Given the description of an element on the screen output the (x, y) to click on. 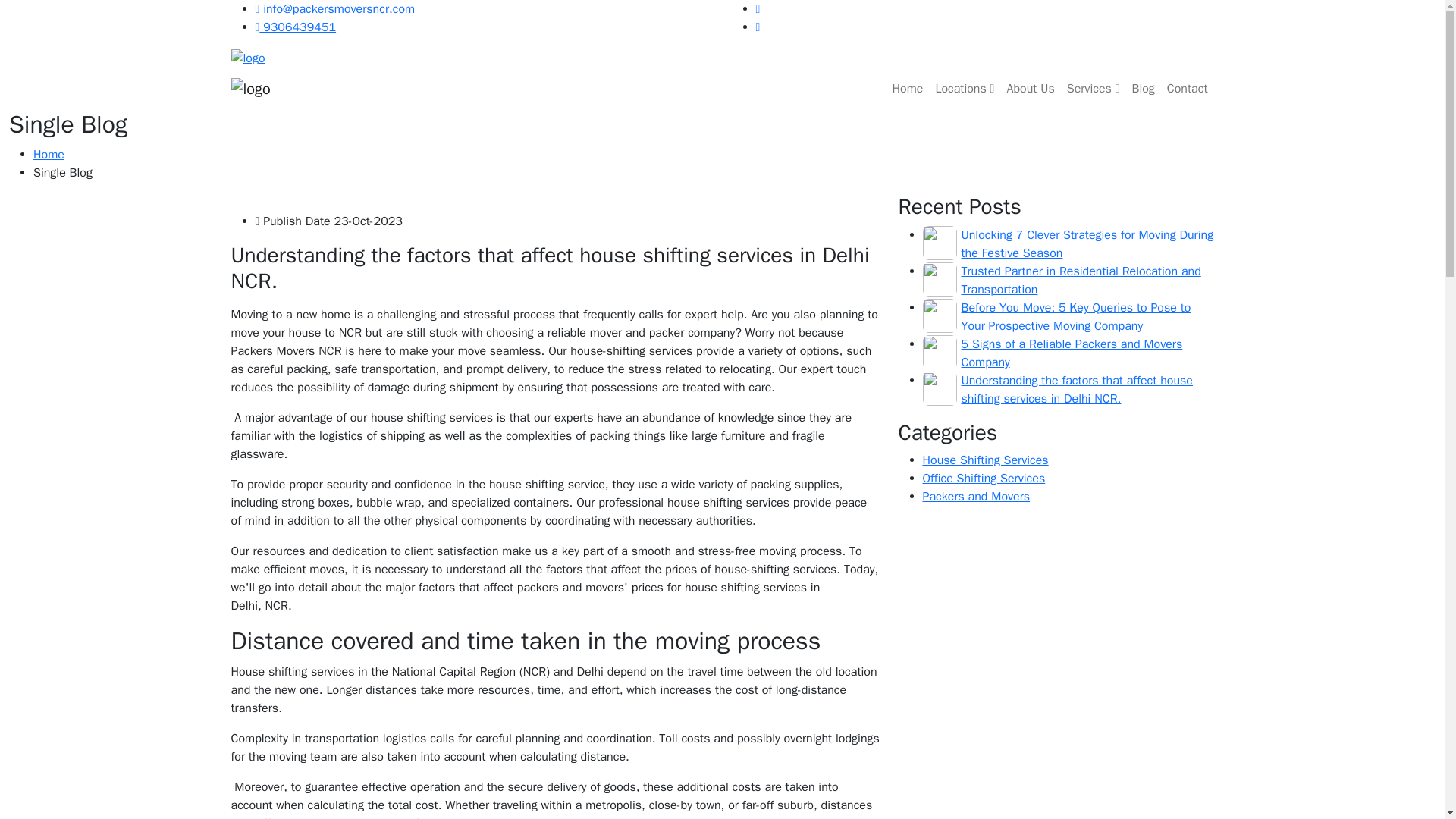
Packers and Movers (975, 496)
Trusted Partner in Residential Relocation and Transportation (1080, 280)
5 Signs of a Reliable Packers and Movers Company (1071, 353)
9306439451 (295, 27)
Services (1093, 88)
Home (906, 88)
Blog (1142, 88)
Office Shifting Services (983, 478)
Contact (1187, 88)
